Given the description of an element on the screen output the (x, y) to click on. 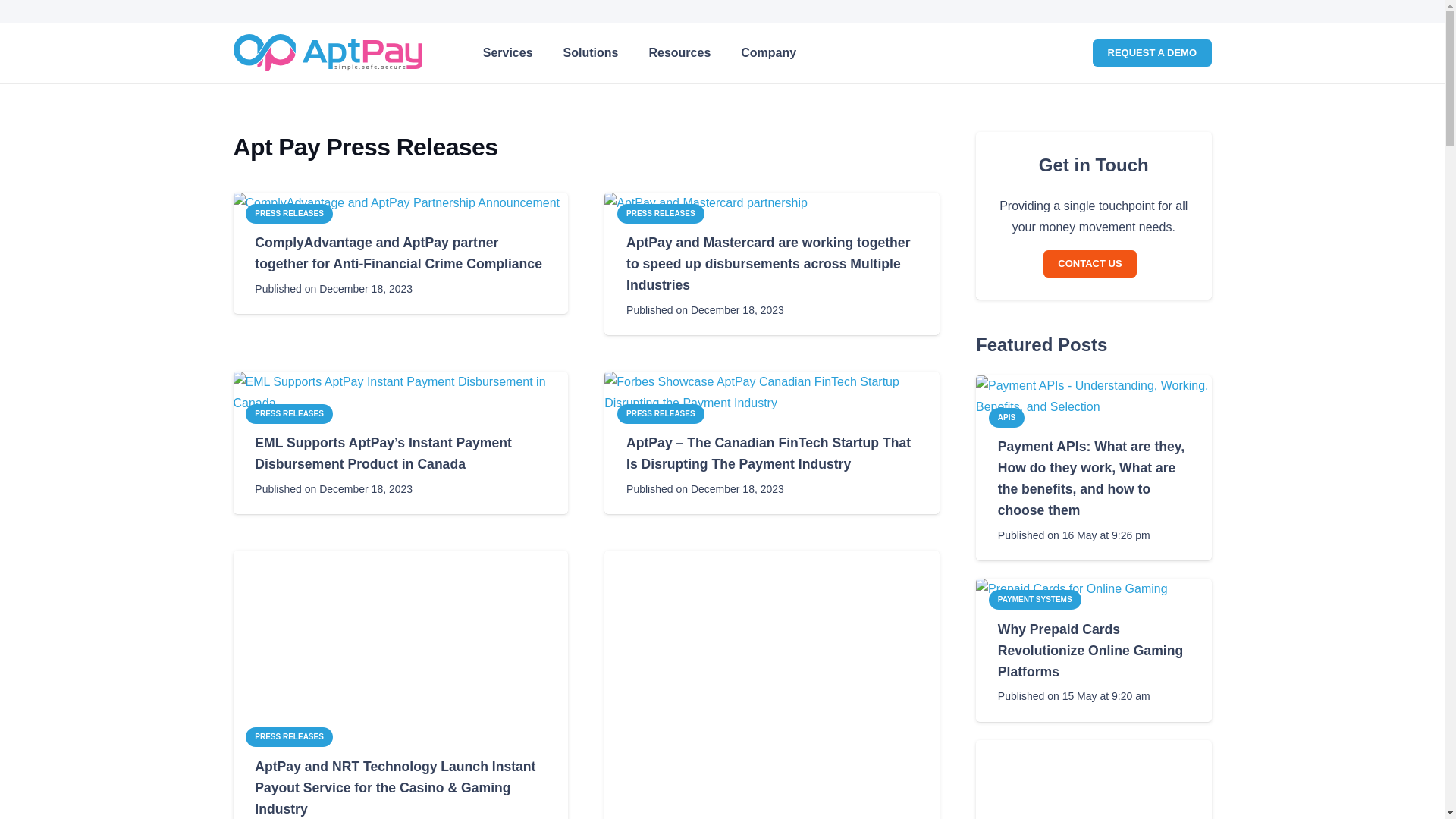
16 May 2024 at 21:26:36 -05:00 (1073, 535)
18 December 2023 at 15:24:57 -05:00 (333, 288)
18 December 2023 at 15:21:50 -05:00 (333, 488)
Solutions (590, 53)
15 May 2024 at 09:20:39 -05:00 (1073, 695)
18 December 2023 at 15:20:51 -05:00 (705, 488)
Resources (638, 53)
Services (679, 53)
18 December 2023 at 15:23:22 -05:00 (507, 53)
Company (705, 310)
